Given the description of an element on the screen output the (x, y) to click on. 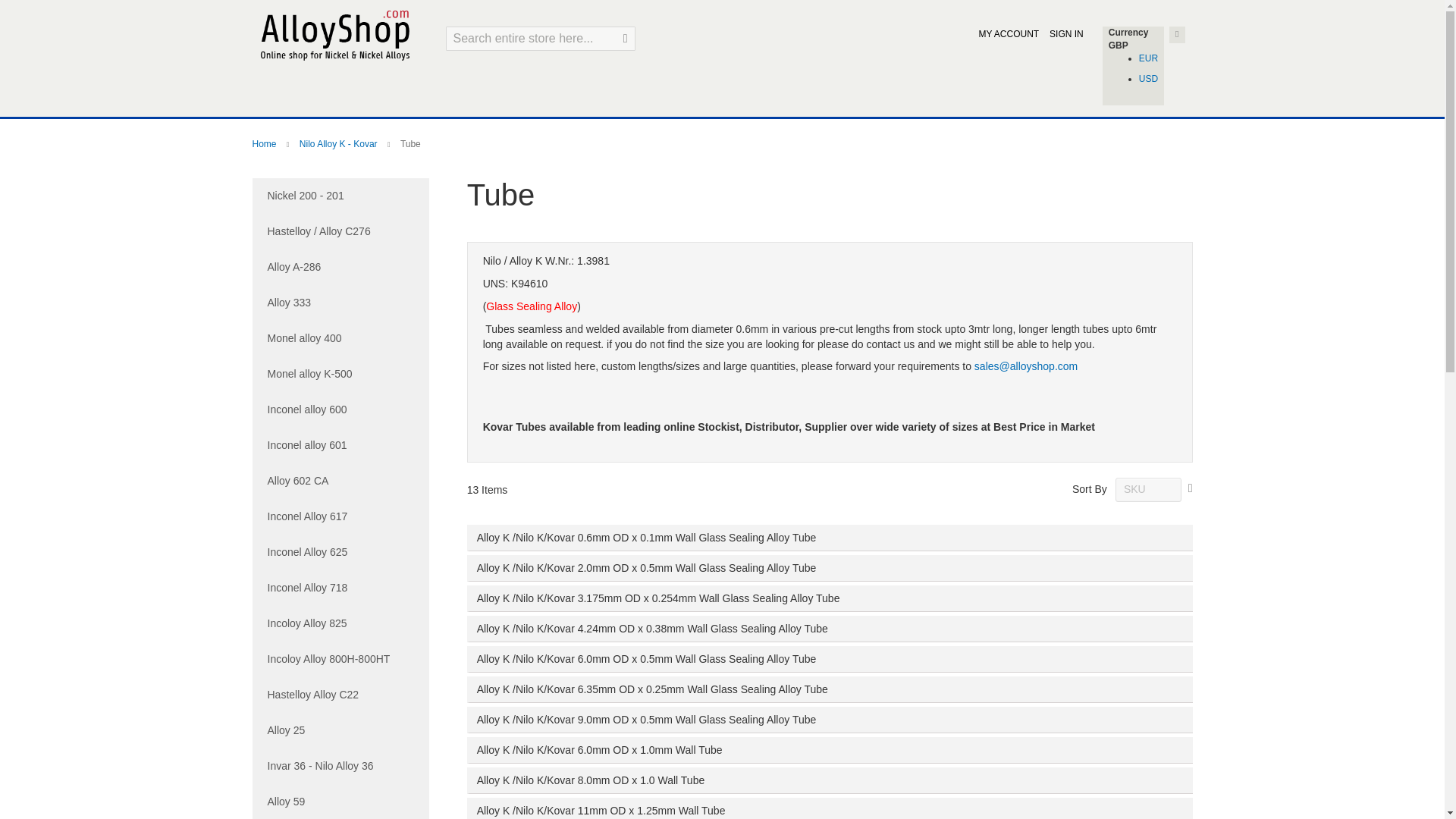
SIGN IN (1066, 33)
Glass Sealing Alloy (531, 306)
Nickel 200 - 201 (340, 195)
EUR (1147, 58)
Nilo Alloy K - Kovar (339, 143)
MY ACCOUNT (1008, 33)
Go to Home Page (264, 143)
Home (264, 143)
Alloyshop.com (334, 32)
USD (1147, 78)
My Cart (1177, 34)
glass sealing alloy (531, 306)
